Given the description of an element on the screen output the (x, y) to click on. 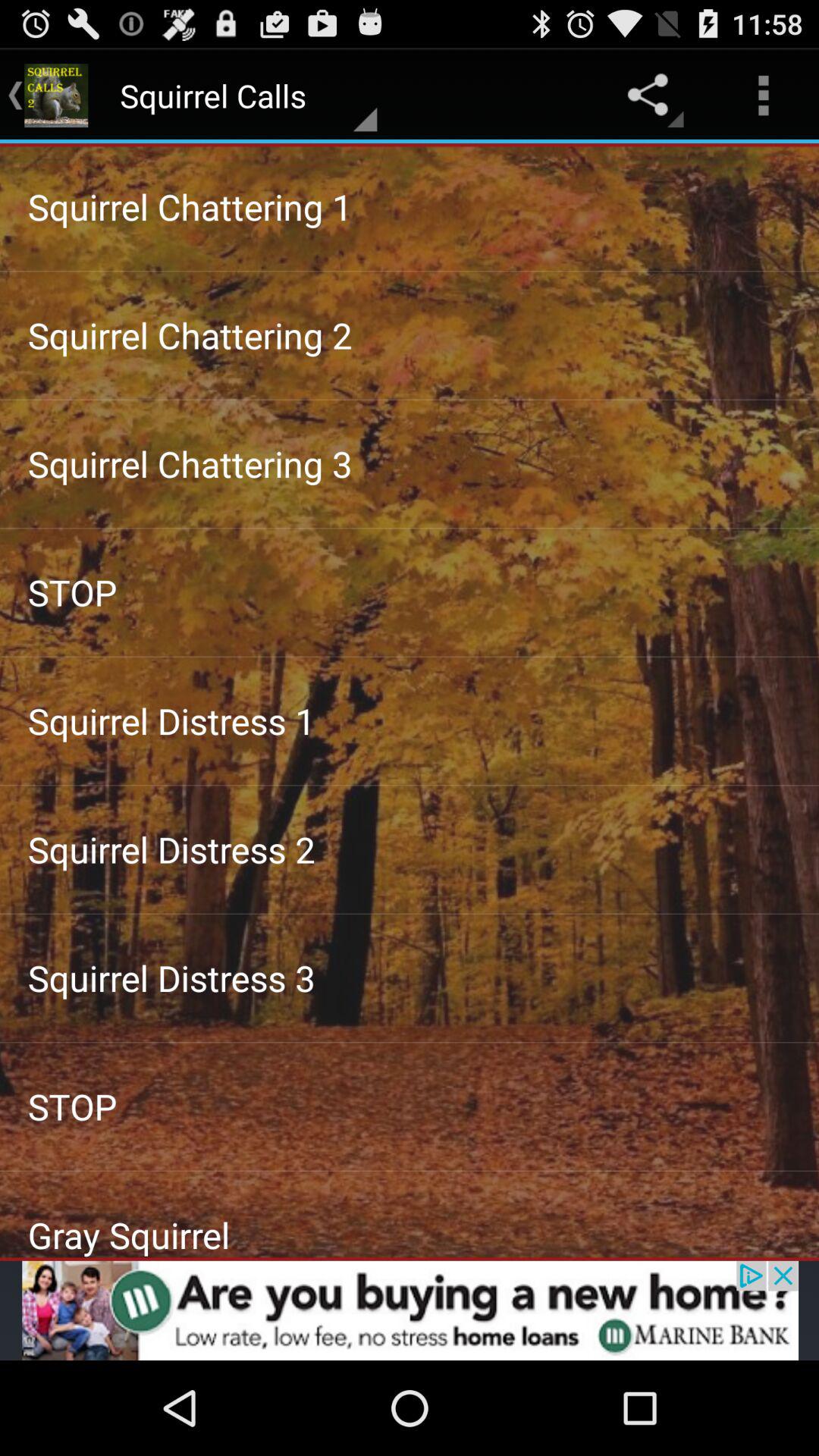
open the advertisement (409, 1310)
